Given the description of an element on the screen output the (x, y) to click on. 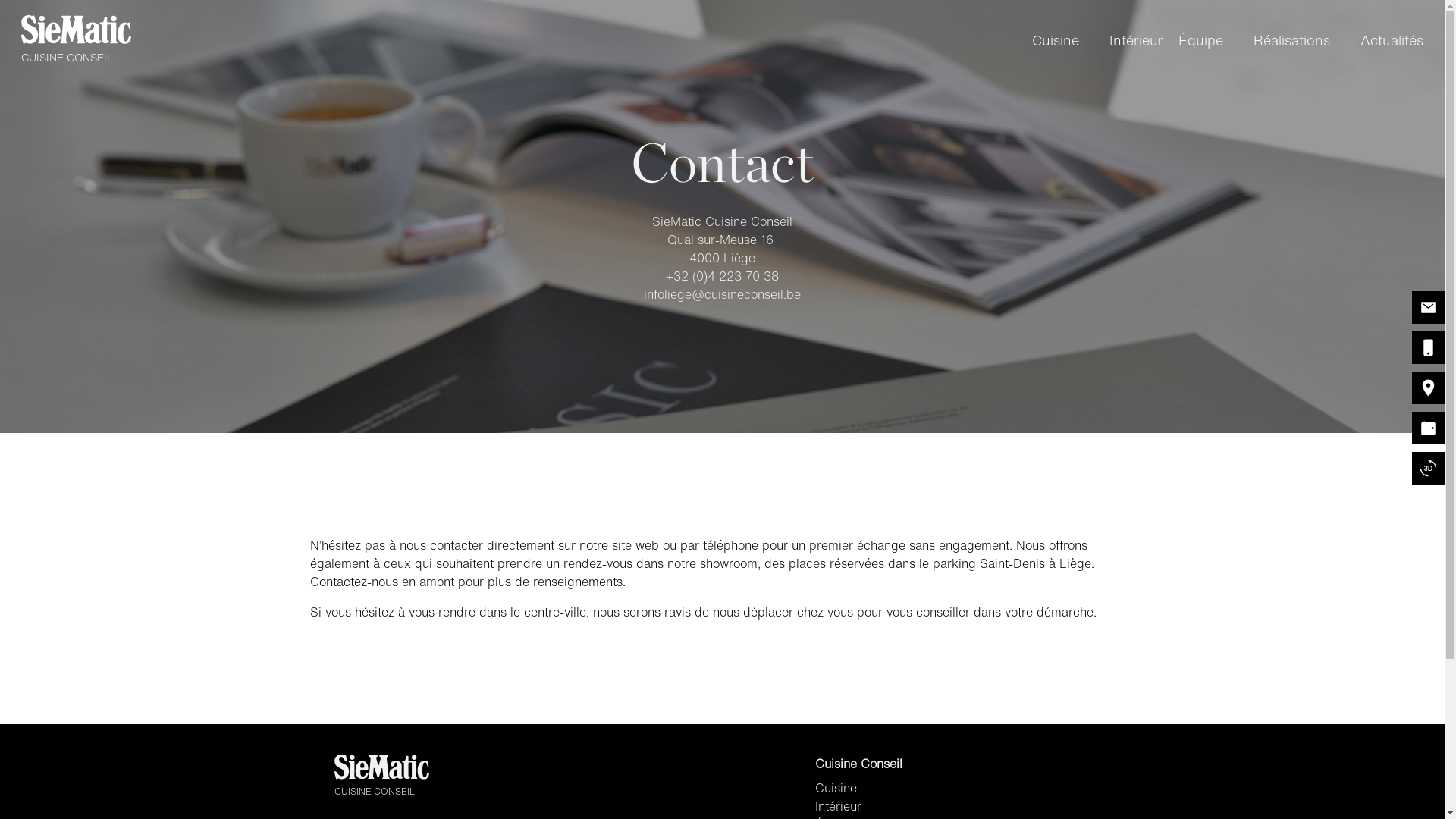
CUISINE CONSEIL Element type: text (380, 776)
Adresse Element type: hover (1428, 387)
Contact Element type: hover (1428, 307)
CUISINE CONSEIL Element type: text (76, 40)
Cuisine Element type: text (1055, 40)
Heures d'ouverture Element type: hover (1428, 427)
Contact Element type: hover (1428, 347)
Cuisine Element type: text (903, 787)
